Given the description of an element on the screen output the (x, y) to click on. 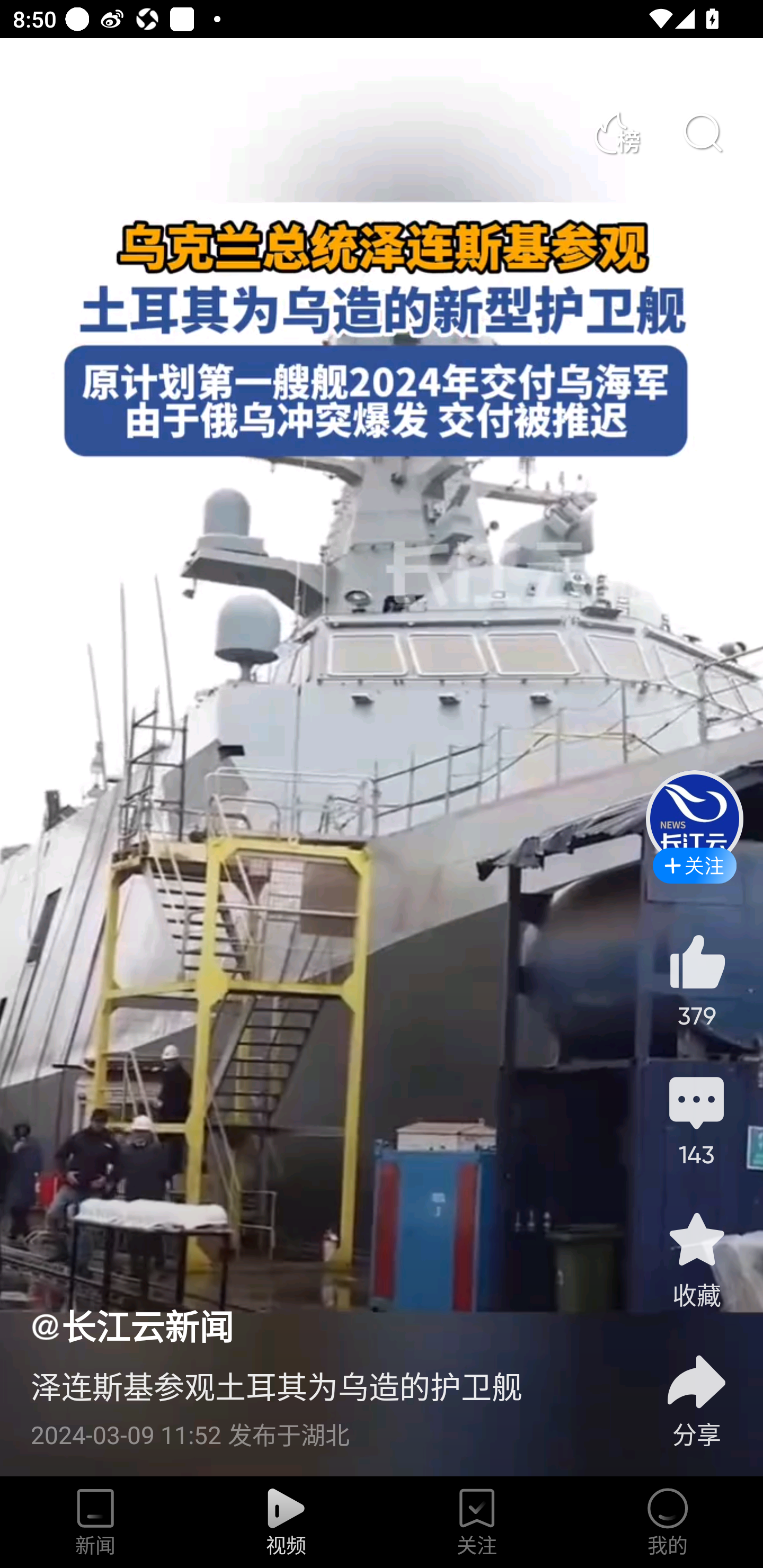
 热榜 (616, 133)
 搜索 (701, 133)
赞 379 (696, 979)
评论  143 (696, 1118)
收藏 (696, 1258)
长江云新闻 (131, 1325)
分享  分享 (696, 1389)
泽连斯基参观土耳其为乌造的护卫舰 2024-03-09 11:52 发布于湖北 (321, 1399)
